Given the description of an element on the screen output the (x, y) to click on. 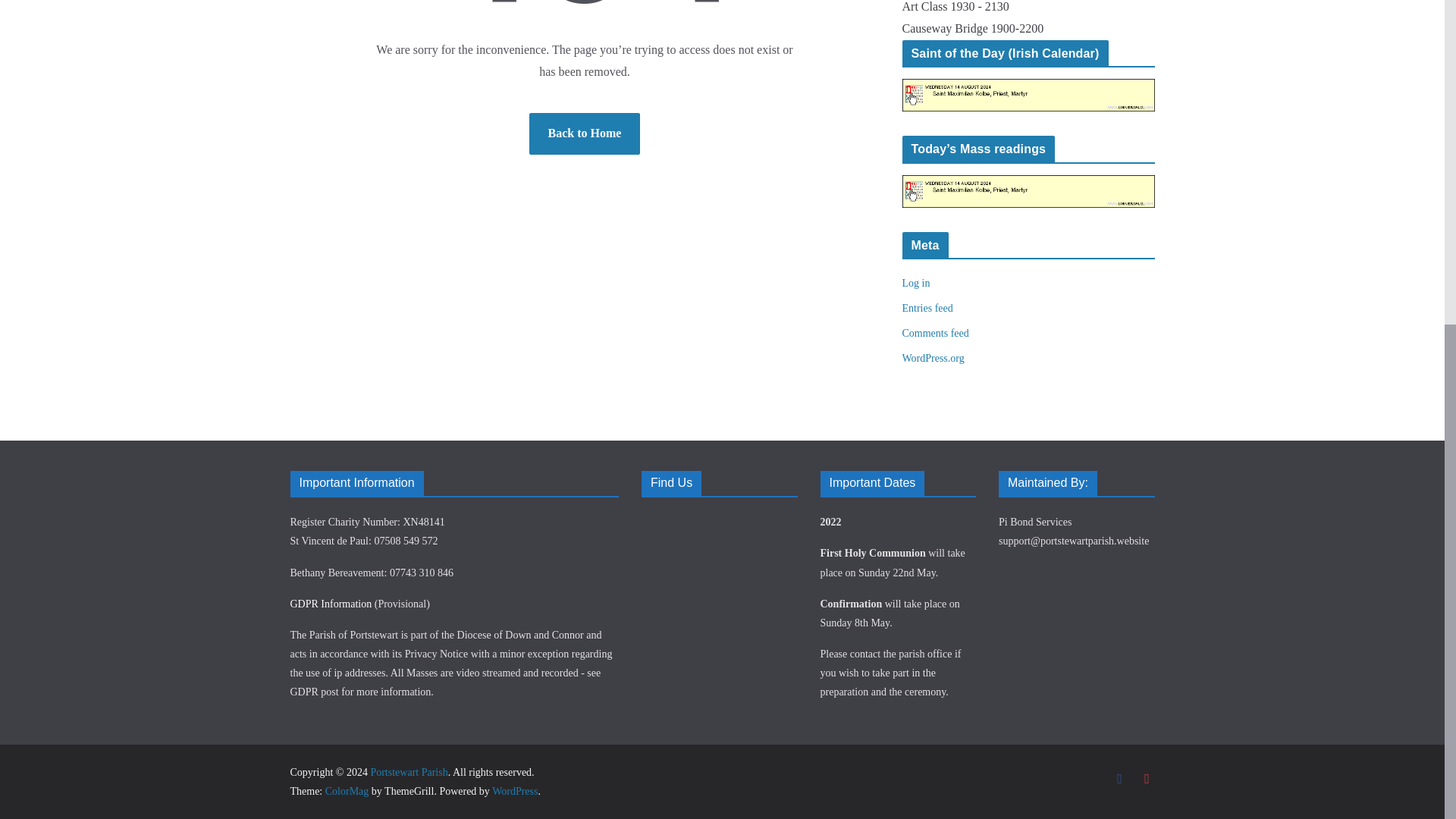
WordPress (514, 790)
Portstewart Parish (407, 772)
ColorMag (346, 790)
